Given the description of an element on the screen output the (x, y) to click on. 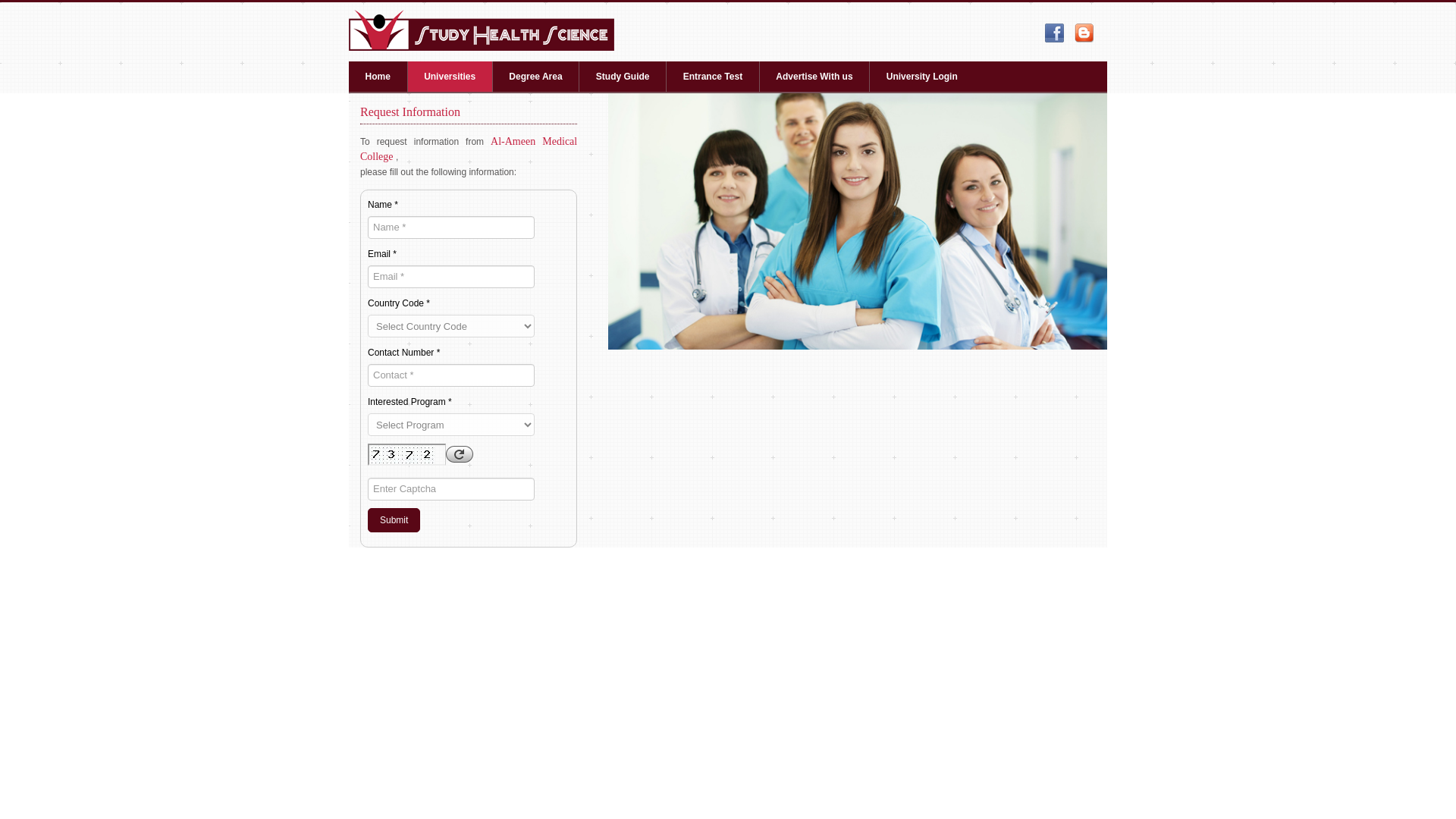
Universities (450, 76)
University Login (921, 76)
Submit (394, 519)
Follow us on Facebook (1054, 32)
Home (378, 76)
Degree Area (536, 76)
Follow us on Blogger (1083, 32)
Submit (394, 519)
Study Guide (622, 76)
Advertise With us (814, 76)
Entrance Test (713, 76)
